Given the description of an element on the screen output the (x, y) to click on. 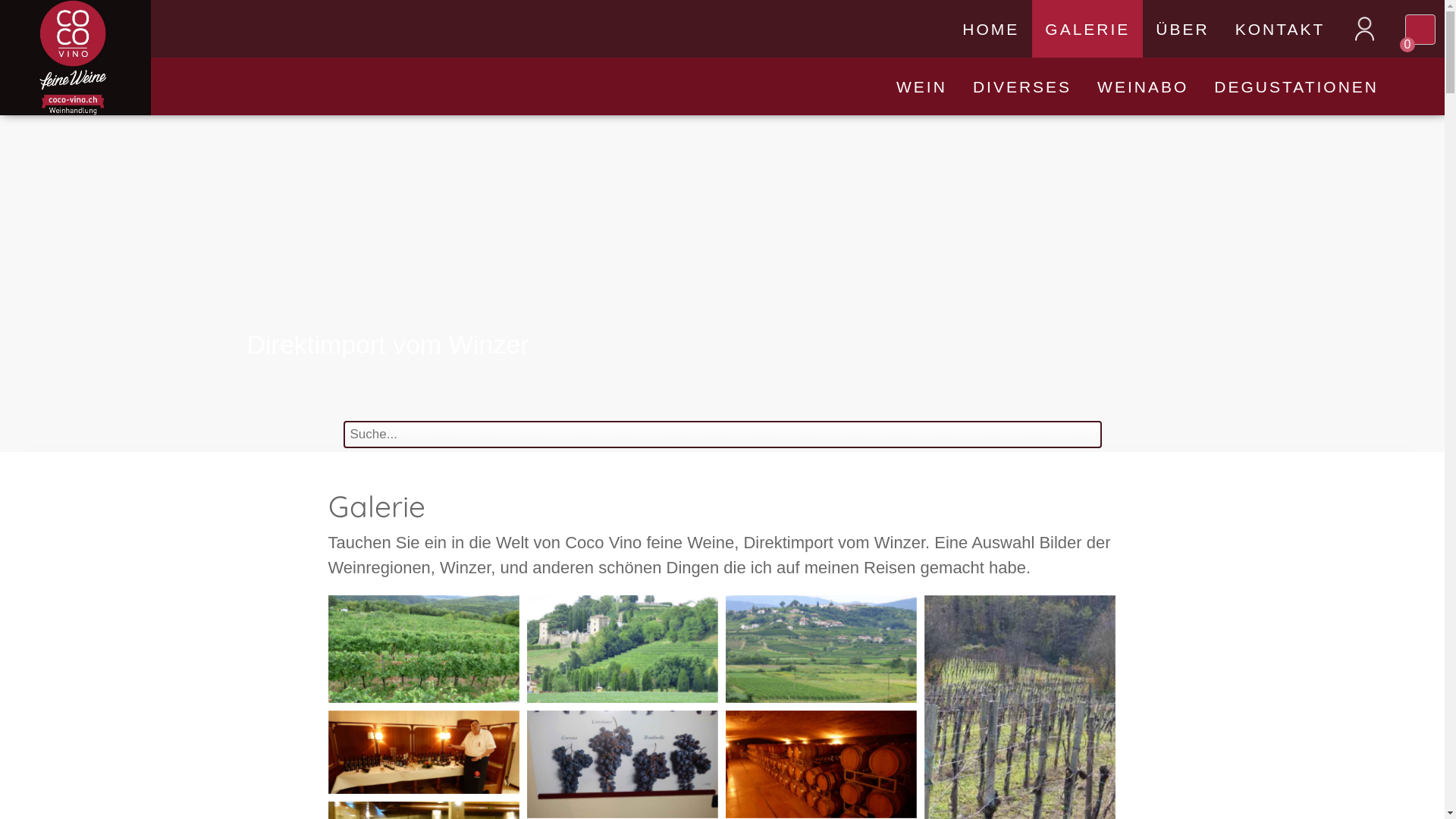
KONTAKT Element type: text (1280, 28)
HOME Element type: text (990, 28)
WEINABO Element type: text (1142, 86)
GALERIE Element type: text (1087, 28)
WEIN Element type: text (921, 86)
DEGUSTATIONEN Element type: text (1296, 86)
DIVERSES Element type: text (1022, 86)
